Given the description of an element on the screen output the (x, y) to click on. 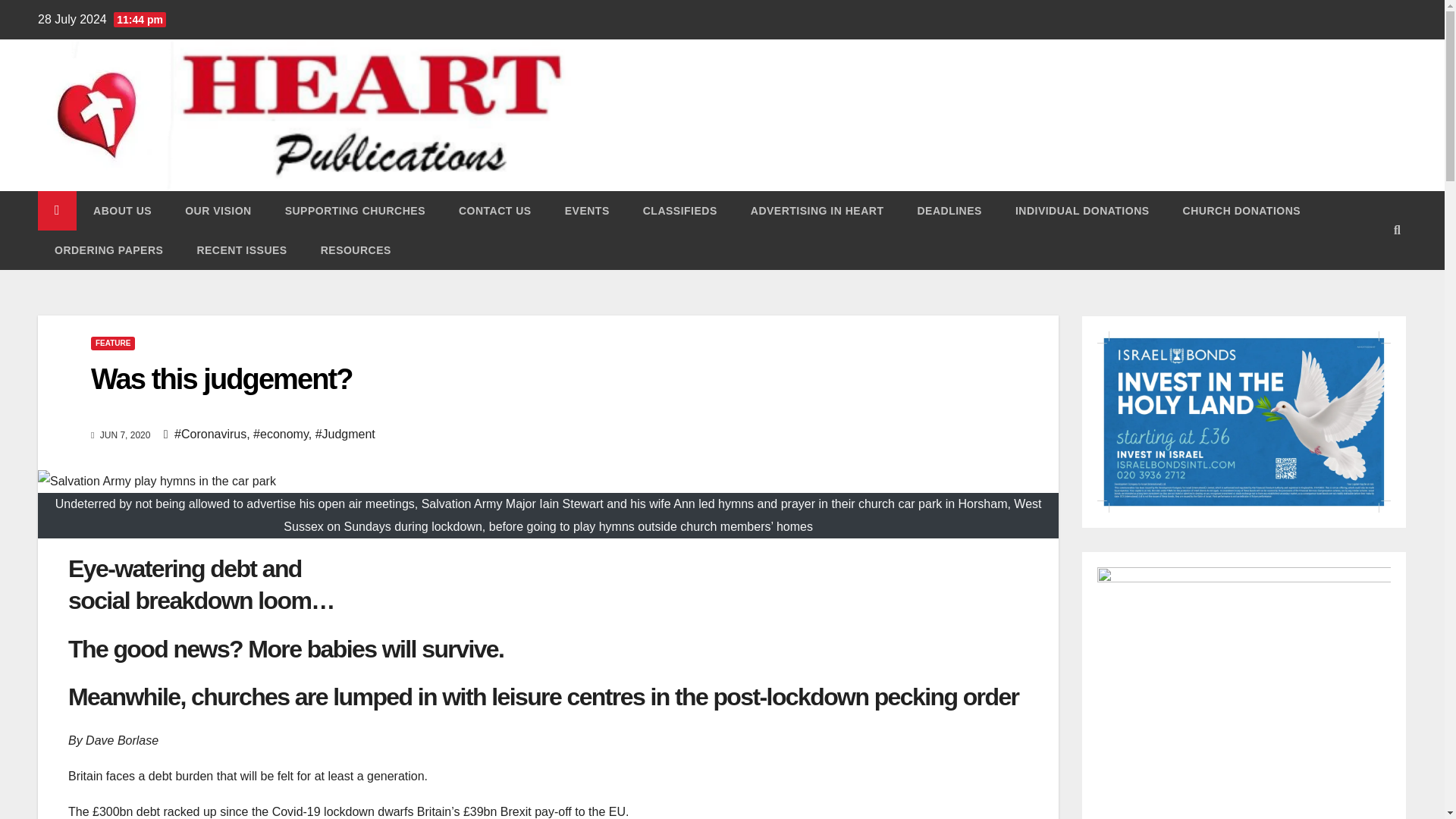
Events (587, 210)
Contact us (495, 210)
INDIVIDUAL DONATIONS (1082, 210)
Supporting Churches (354, 210)
CONTACT US (495, 210)
Permalink to: Was this judgement? (221, 378)
EVENTS (587, 210)
CLASSIFIEDS (679, 210)
Recent Issues (240, 250)
ORDERING PAPERS (108, 250)
Classifieds (679, 210)
Advertising in HEART (817, 210)
CHURCH DONATIONS (1241, 210)
SUPPORTING CHURCHES (354, 210)
Deadlines (948, 210)
